Given the description of an element on the screen output the (x, y) to click on. 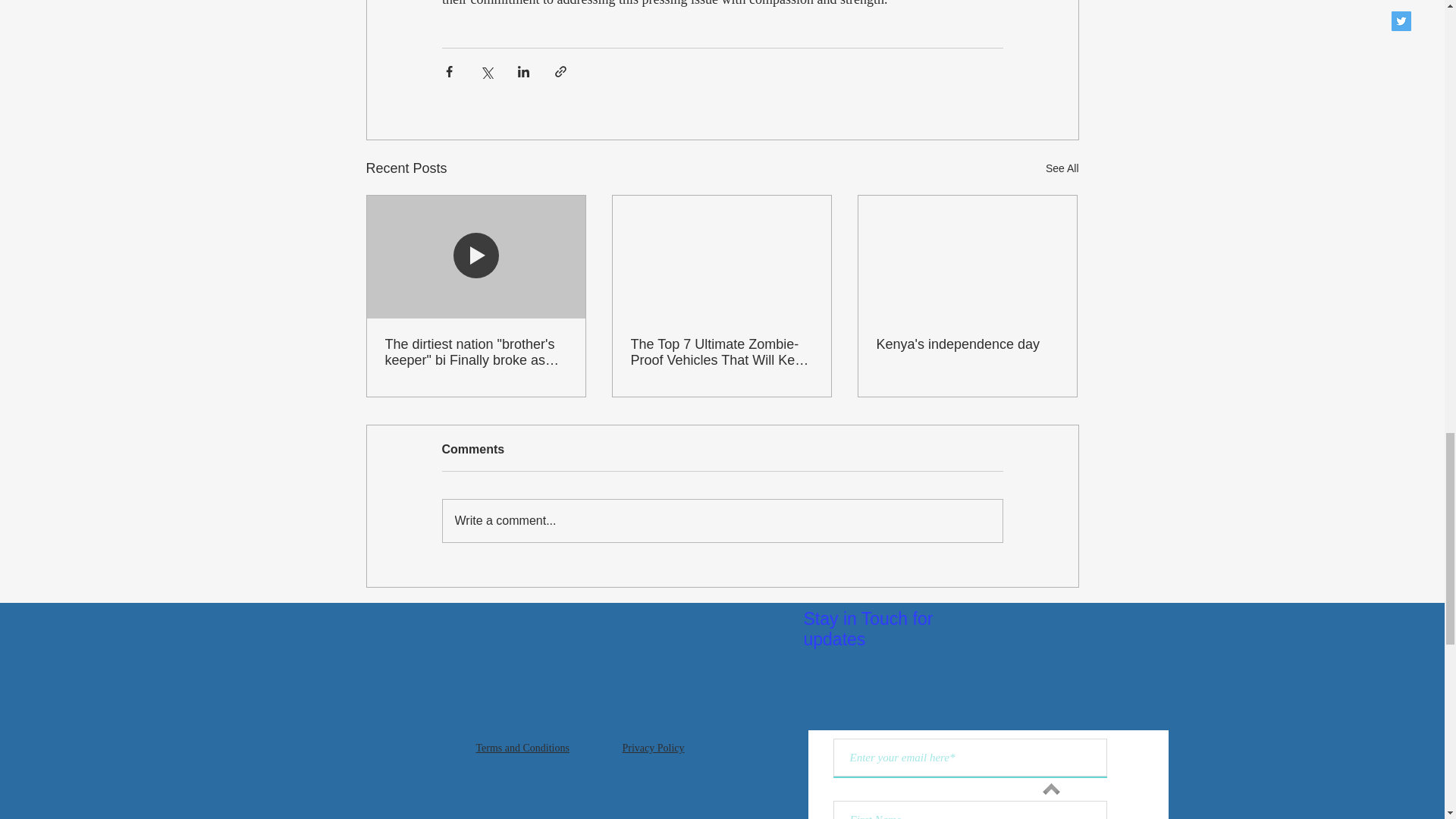
See All (1061, 168)
